Given the description of an element on the screen output the (x, y) to click on. 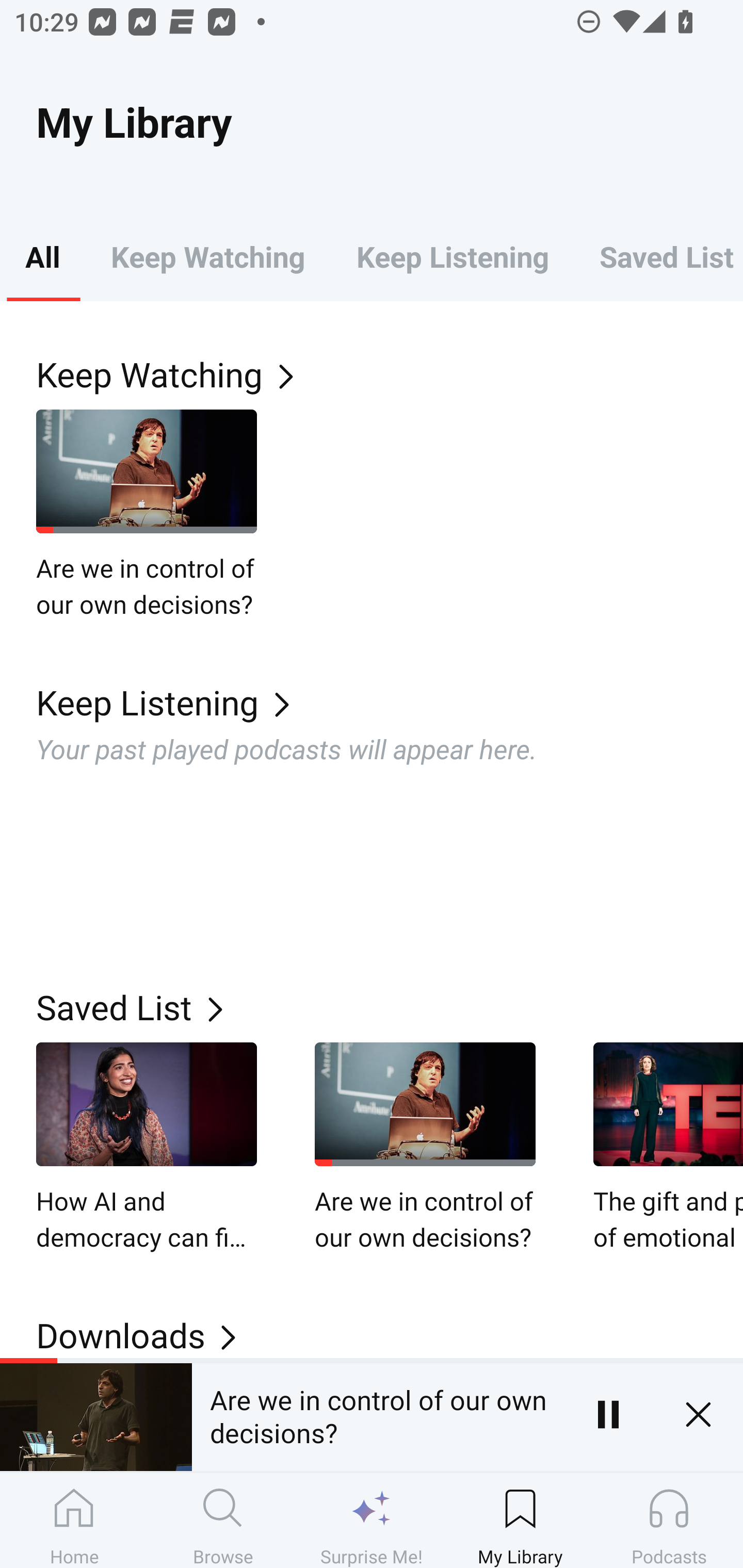
All (42, 256)
Keep Watching (207, 256)
Keep Listening (452, 256)
Saved List (658, 256)
Keep Watching (389, 373)
Are we in control of our own decisions? (146, 514)
Keep Listening (389, 702)
Saved List (389, 1007)
How AI and democracy can fix each other (146, 1148)
Are we in control of our own decisions? (425, 1148)
The gift and power of emotional courage (668, 1148)
Downloads (389, 1334)
Are we in control of our own decisions? (377, 1413)
Home (74, 1520)
Browse (222, 1520)
Surprise Me! (371, 1520)
My Library (519, 1520)
Podcasts (668, 1520)
